Given the description of an element on the screen output the (x, y) to click on. 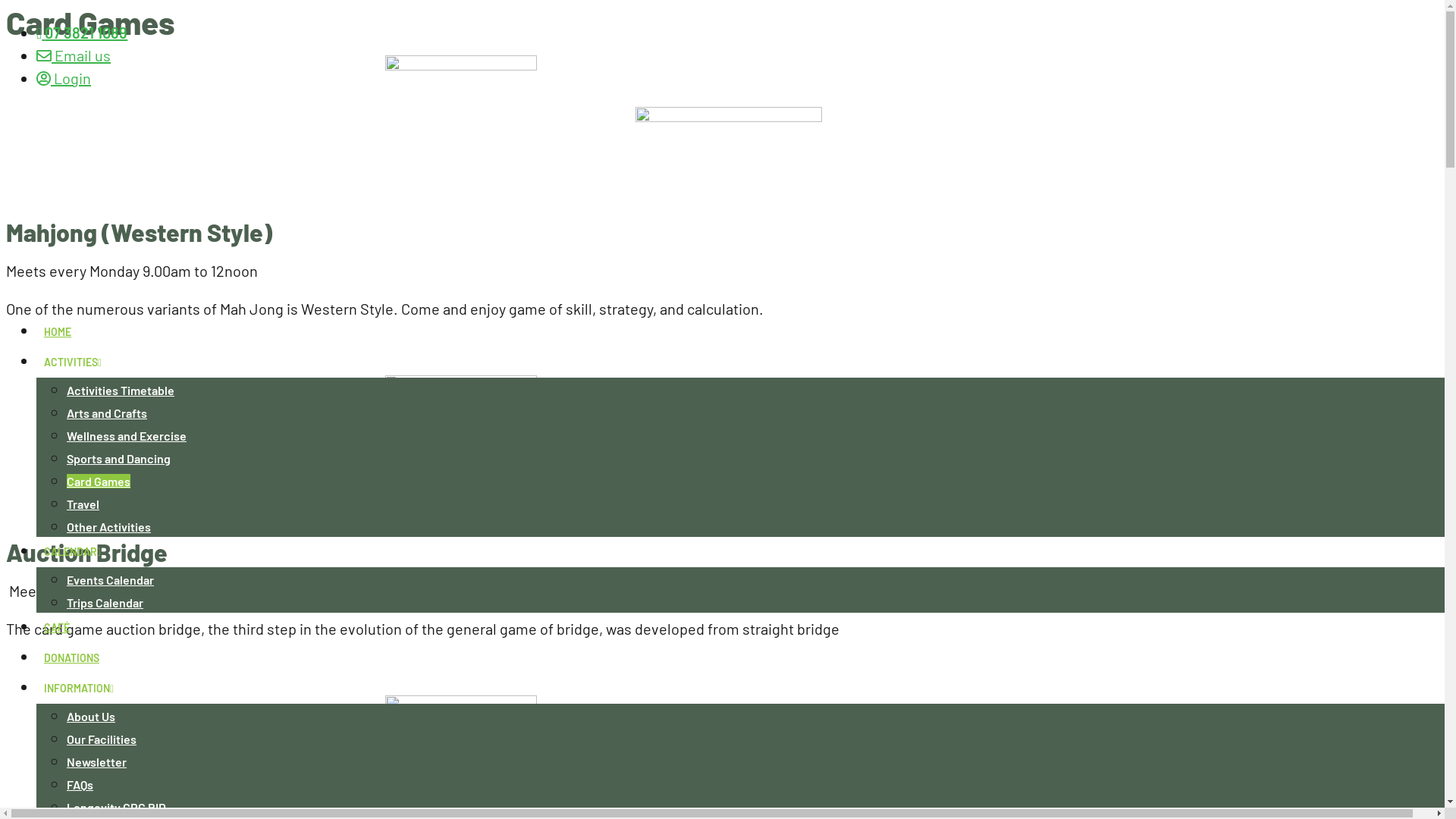
07 3821 1089 Element type: text (81, 32)
About Us Element type: text (90, 716)
Newsletter Element type: text (96, 761)
Our Facilities Element type: text (101, 738)
Email us Element type: text (73, 55)
Longevity CRC BID Element type: text (116, 807)
Events Calendar Element type: text (109, 579)
Trips Calendar Element type: text (104, 602)
INFORMATION Element type: text (78, 687)
ACTIVITIES Element type: text (72, 361)
CALENDAR Element type: text (72, 551)
Activities Timetable Element type: text (120, 389)
Wellness and Exercise Element type: text (126, 435)
Skip to content Element type: text (5, 5)
Arts and Crafts Element type: text (106, 412)
DONATIONS Element type: text (71, 657)
Login Element type: text (63, 78)
HOME Element type: text (57, 331)
Card Games Element type: text (98, 480)
Other Activities Element type: text (108, 526)
Travel Element type: text (82, 503)
FAQs Element type: text (79, 784)
Sports and Dancing Element type: text (118, 458)
